Given the description of an element on the screen output the (x, y) to click on. 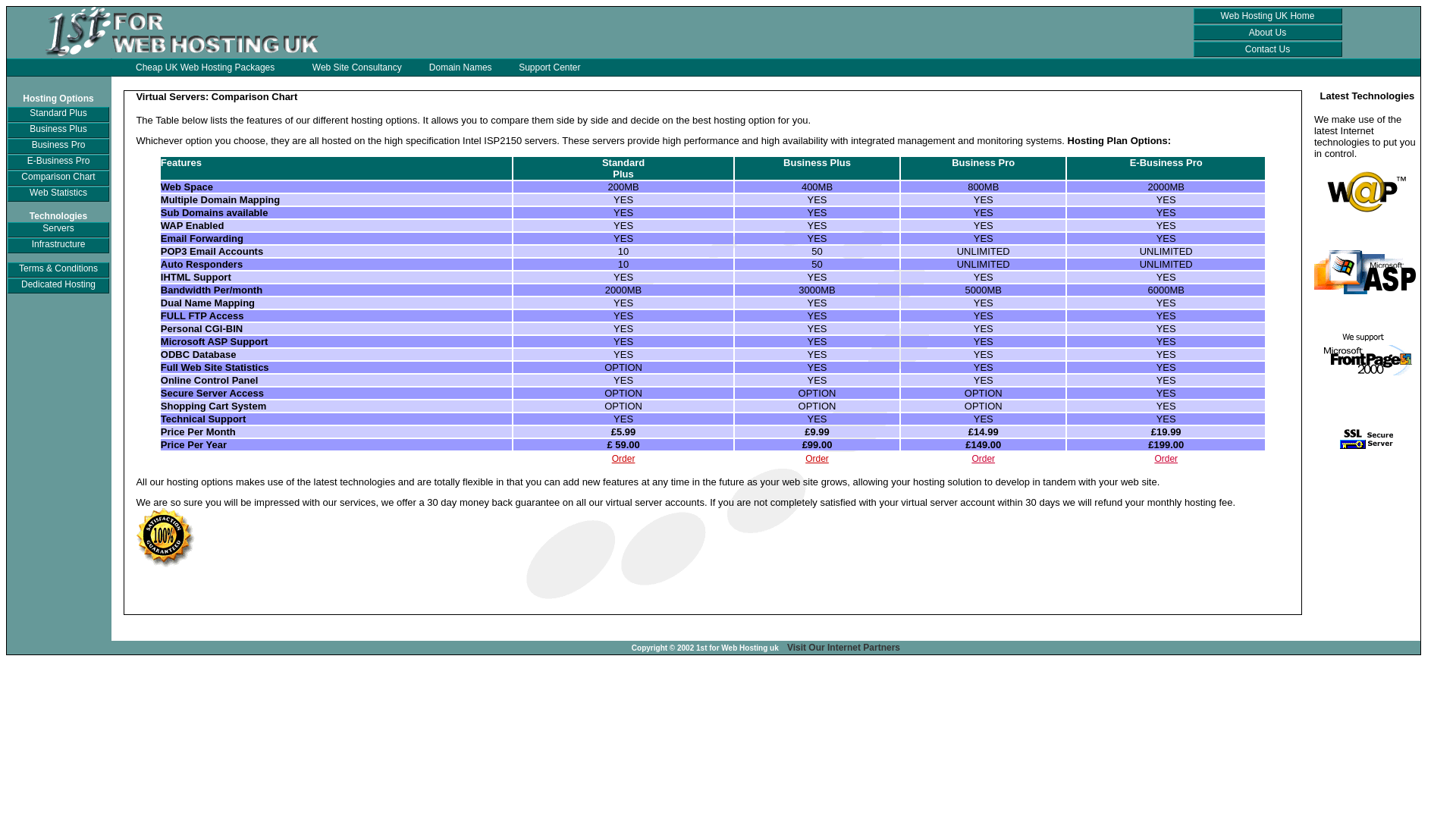
Servers Element type: text (57, 227)
Support Center Element type: text (549, 67)
Business Pro Element type: text (58, 144)
Comparison Chart Element type: text (57, 176)
Order Element type: text (816, 458)
Cheap UK Web Hosting Packages Element type: text (204, 67)
Infrastructure Element type: text (58, 243)
About Us Element type: text (1267, 32)
Contact Us Element type: text (1267, 48)
Dedicated Hosting Element type: text (58, 284)
Web Site Consultancy Element type: text (356, 67)
Web Statistics Element type: text (58, 192)
Standard Plus Element type: text (57, 112)
Domain Names Element type: text (460, 67)
Terms & Conditions Element type: text (57, 268)
E-Business Pro Element type: text (58, 160)
Order Element type: text (982, 458)
Business Plus Element type: text (57, 128)
Order Element type: text (1165, 458)
Web Hosting UK Home Element type: text (1267, 15)
Order Element type: text (623, 458)
Visit Our Internet Partners Element type: text (843, 647)
